Given the description of an element on the screen output the (x, y) to click on. 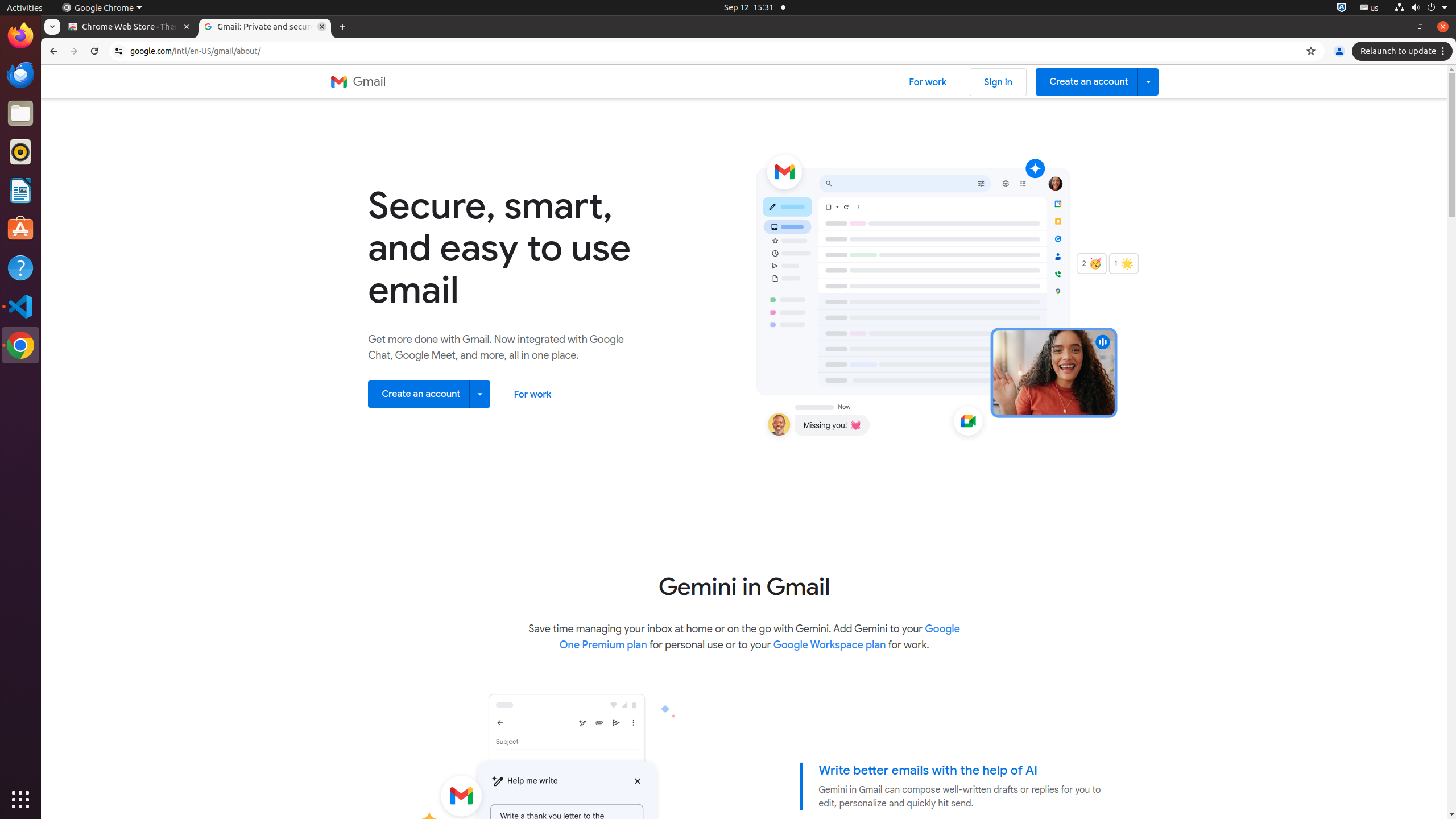
Gmail: Private and secure email at no cost | Google Workspace - Memory usage - 111 MB Element type: page-tab (264, 26)
:1.72/StatusNotifierItem Element type: menu (1341, 7)
For work Element type: link (927, 81)
Back Element type: push-button (51, 50)
Bookmark this tab Element type: push-button (1310, 51)
